Given the description of an element on the screen output the (x, y) to click on. 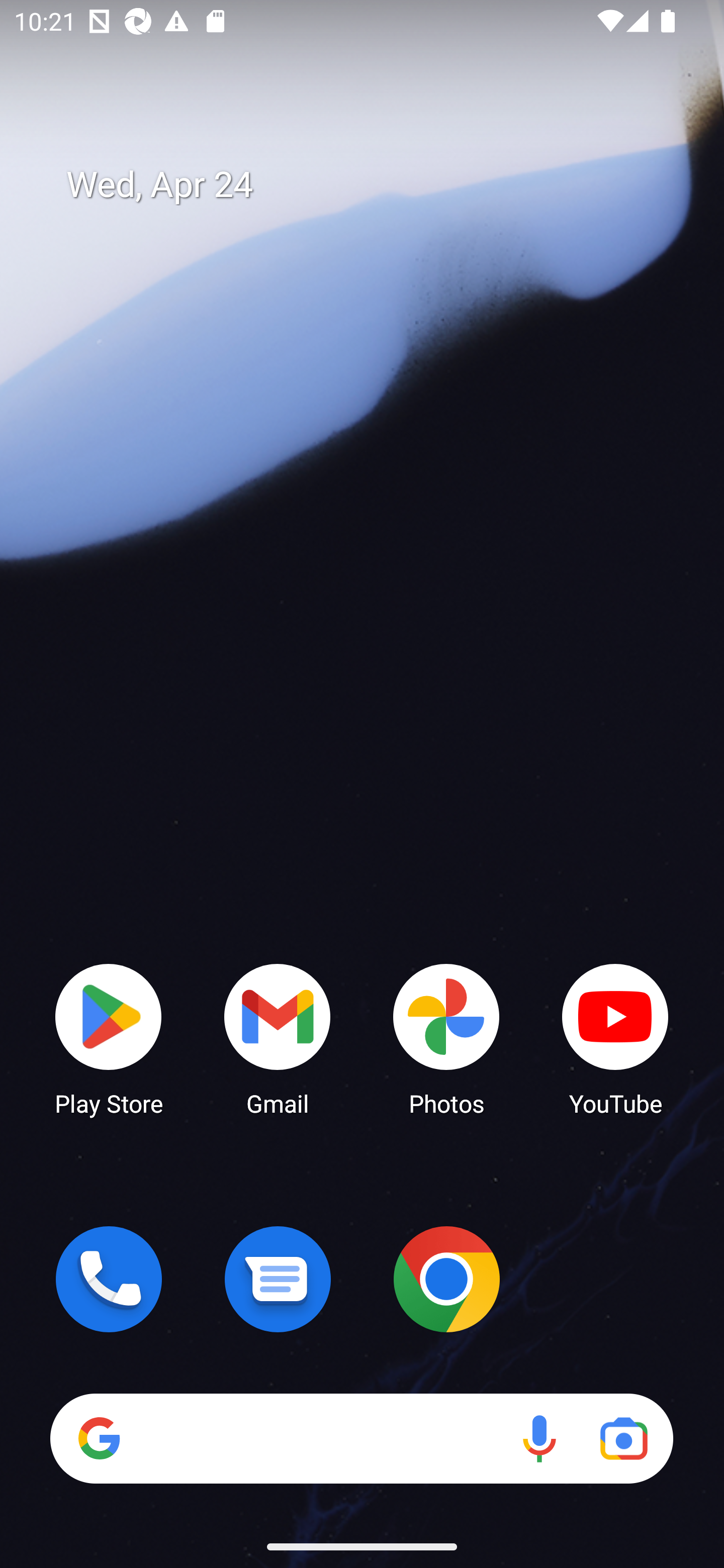
Wed, Apr 24 (375, 184)
Play Store (108, 1038)
Gmail (277, 1038)
Photos (445, 1038)
YouTube (615, 1038)
Phone (108, 1279)
Messages (277, 1279)
Chrome (446, 1279)
Search Voice search Google Lens (361, 1438)
Voice search (539, 1438)
Google Lens (623, 1438)
